Given the description of an element on the screen output the (x, y) to click on. 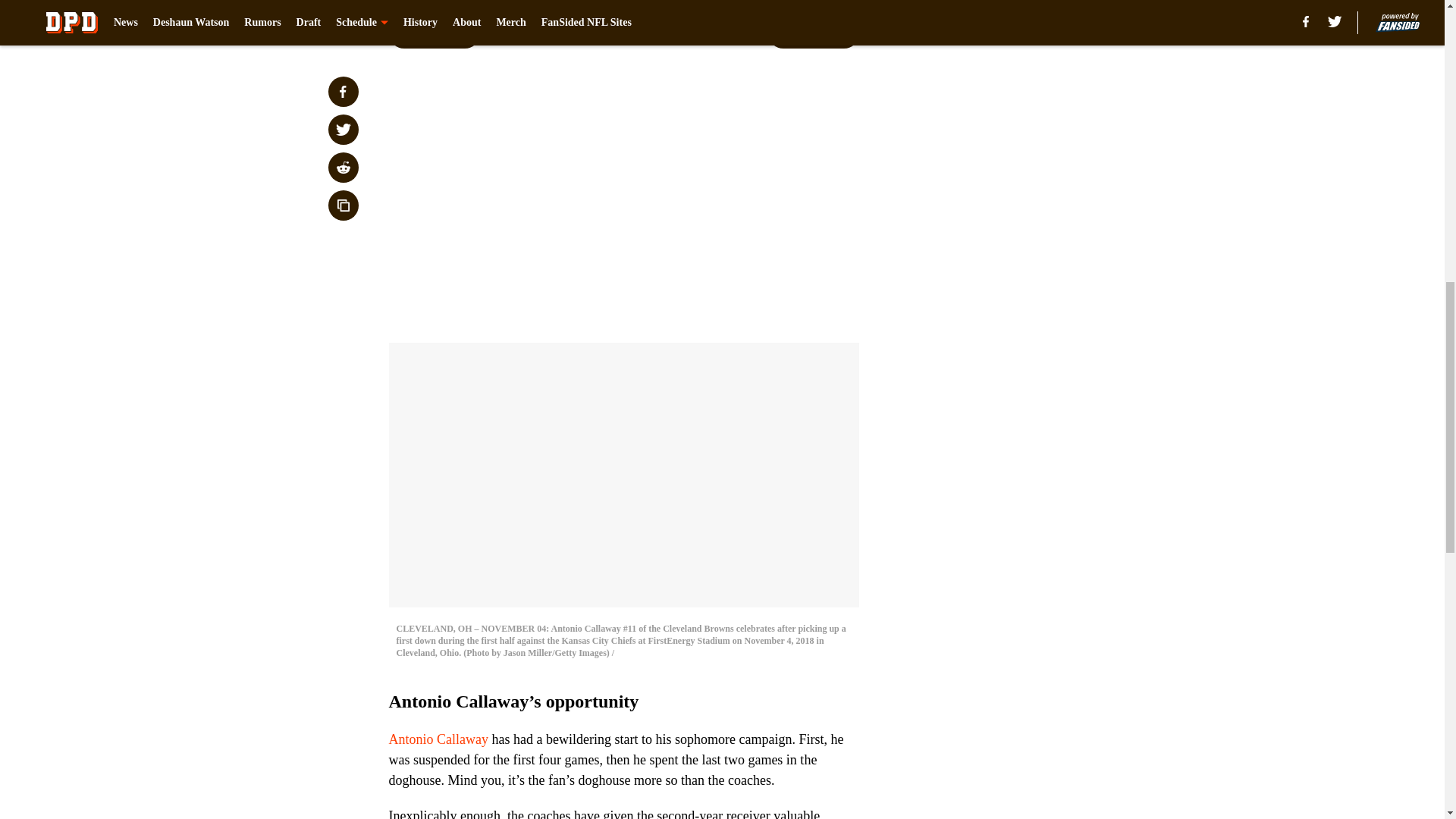
Prev (433, 33)
Next (813, 33)
Antonio Callaway (437, 739)
